Given the description of an element on the screen output the (x, y) to click on. 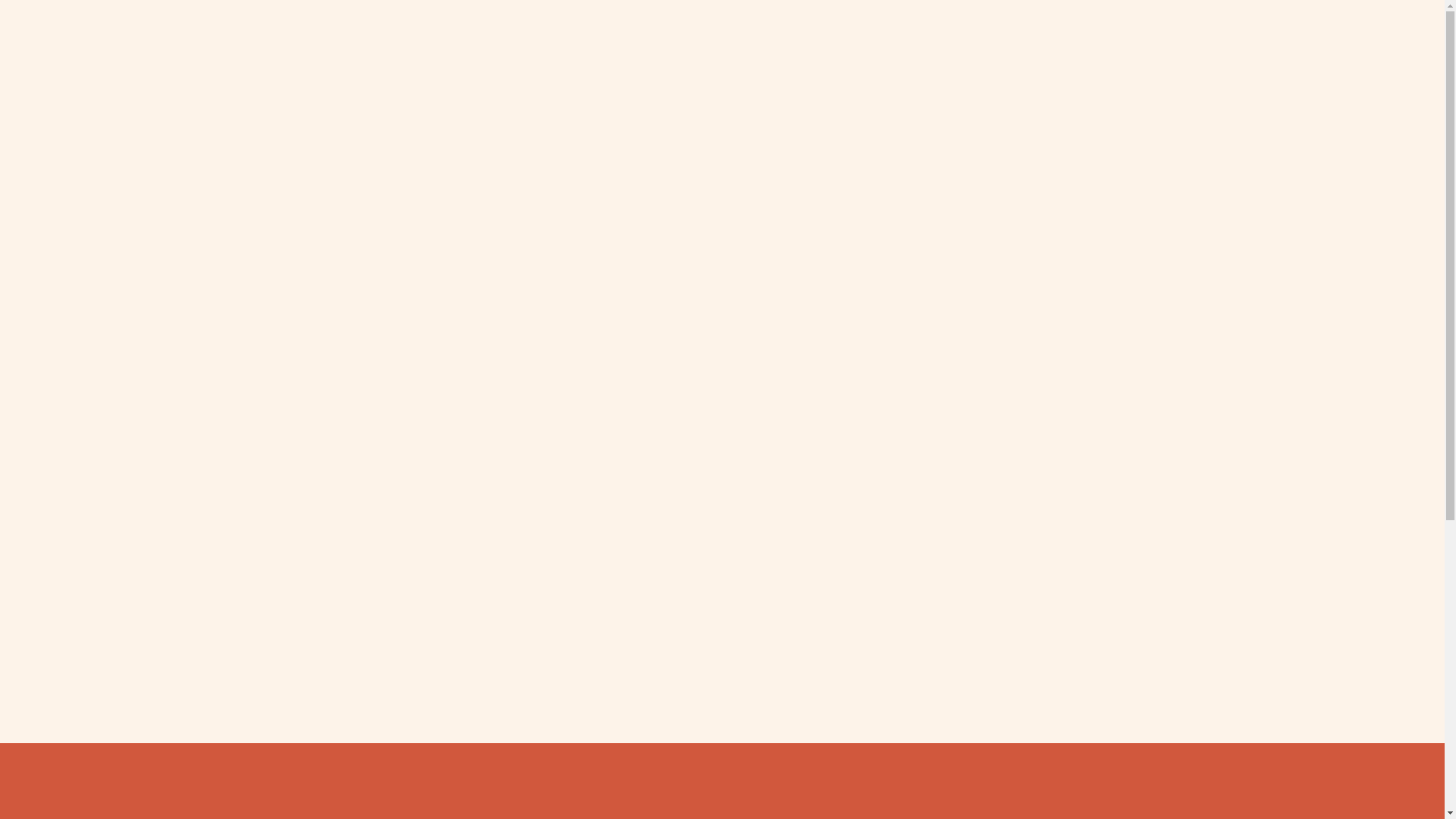
Send (721, 630)
